Given the description of an element on the screen output the (x, y) to click on. 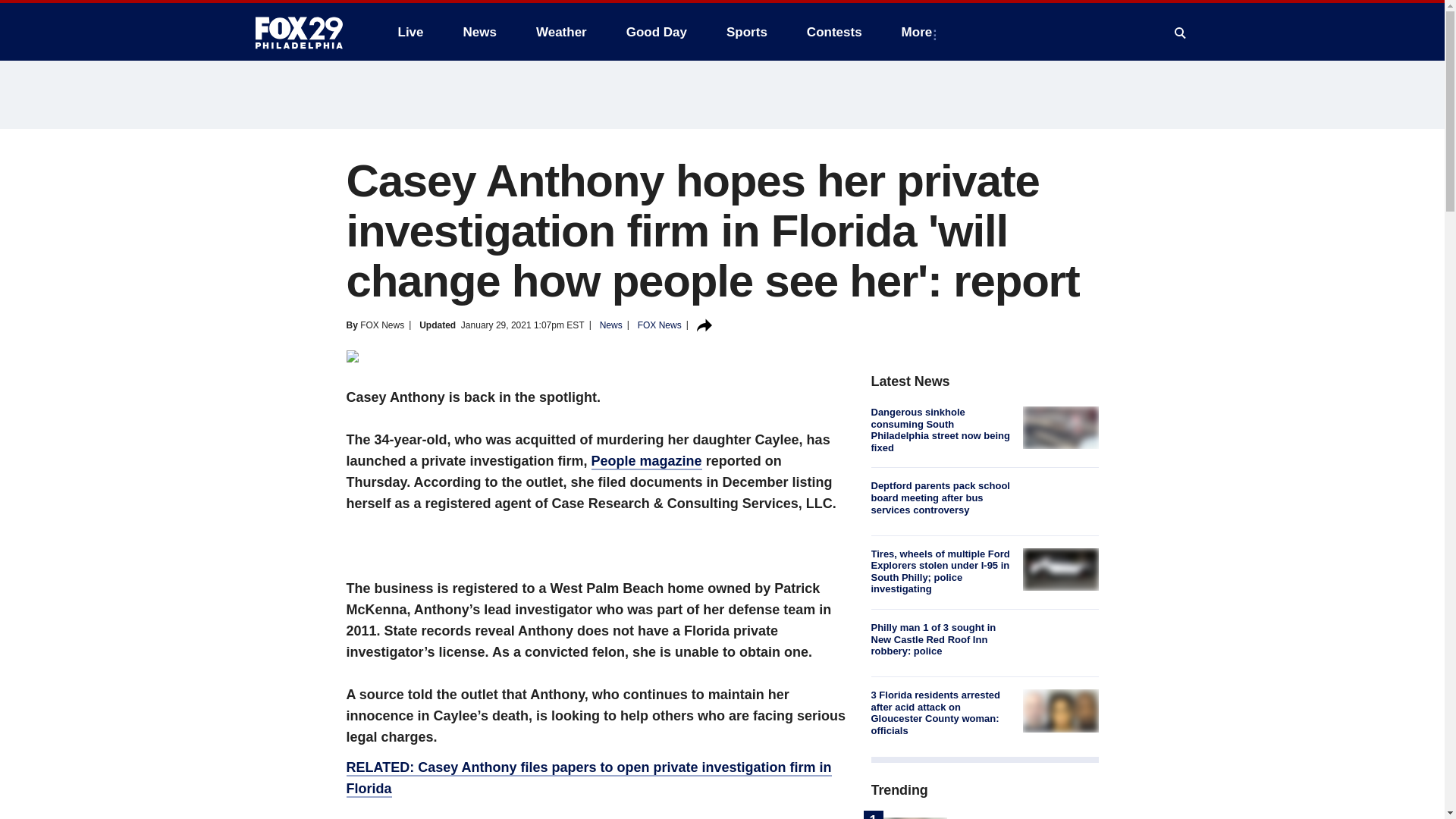
Sports (746, 32)
Live (410, 32)
Weather (561, 32)
More (919, 32)
Good Day (656, 32)
News (479, 32)
Contests (834, 32)
